Given the description of an element on the screen output the (x, y) to click on. 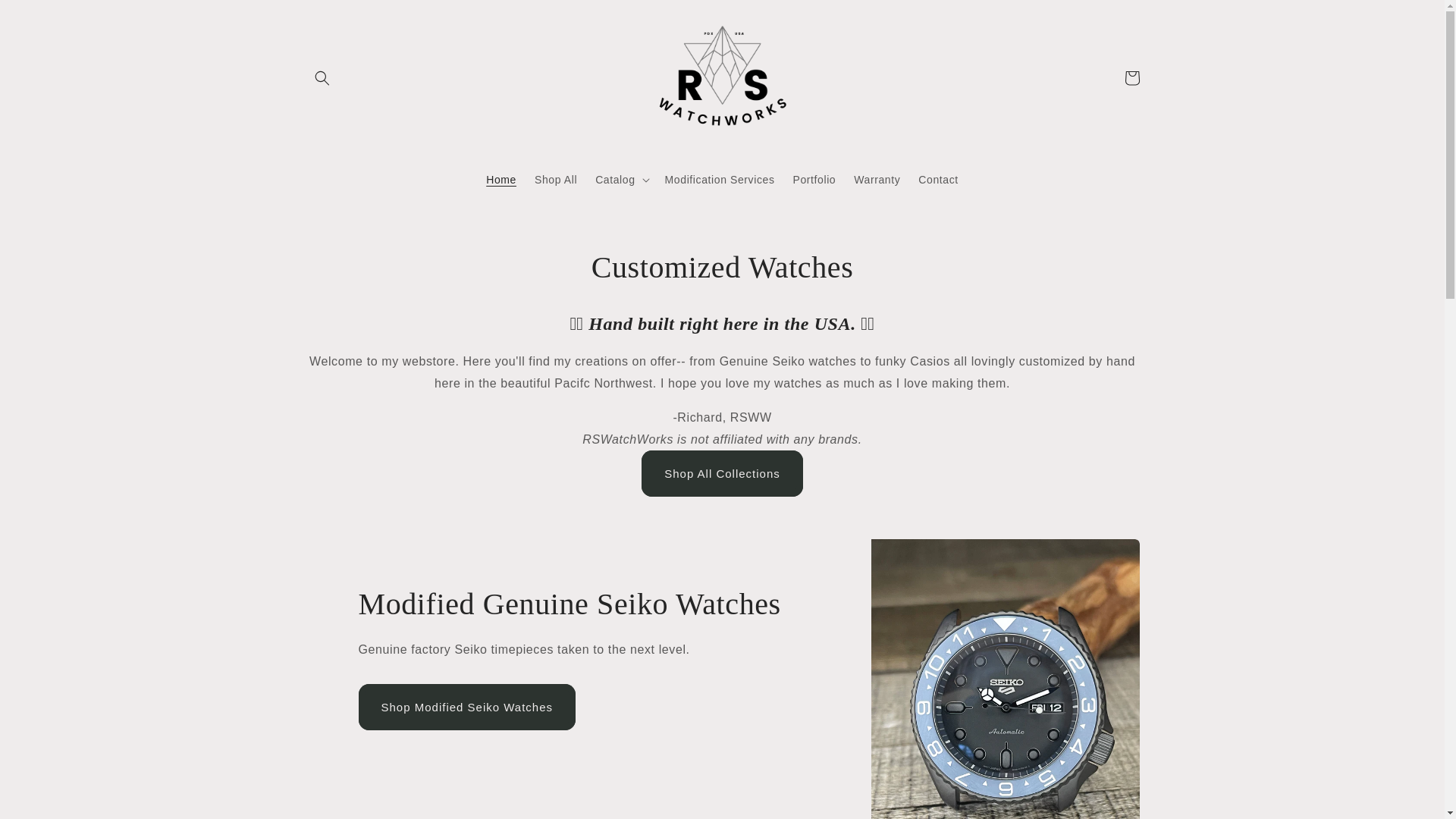
Portfolio (814, 179)
Home (501, 179)
Modification Services (720, 179)
Skip to content (50, 22)
Cart (1131, 77)
Shop Modified Seiko Watches (466, 706)
Shop All (555, 179)
Contact (937, 179)
Shop All Collections (722, 473)
Warranty (876, 179)
